Given the description of an element on the screen output the (x, y) to click on. 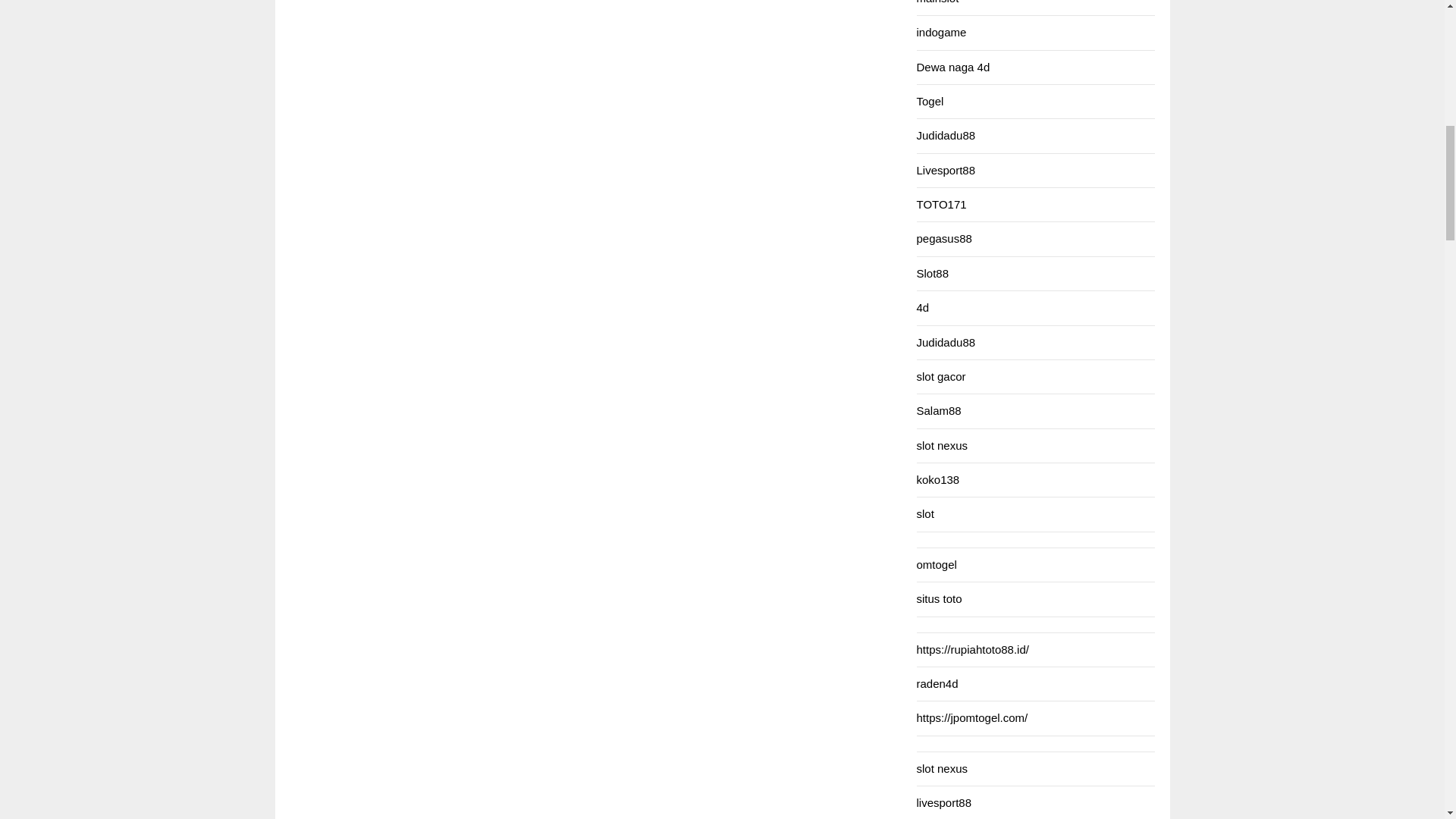
koko138 (937, 479)
mainslot (936, 2)
4d (921, 307)
slot gacor (940, 376)
Judidadu88 (945, 341)
Judidadu88 (945, 134)
indogame (940, 31)
Dewa naga 4d (952, 66)
Livesport88 (945, 169)
Togel (929, 101)
TOTO171 (940, 204)
Salam88 (937, 410)
slot nexus (941, 445)
Slot88 (932, 273)
slot (924, 513)
